Given the description of an element on the screen output the (x, y) to click on. 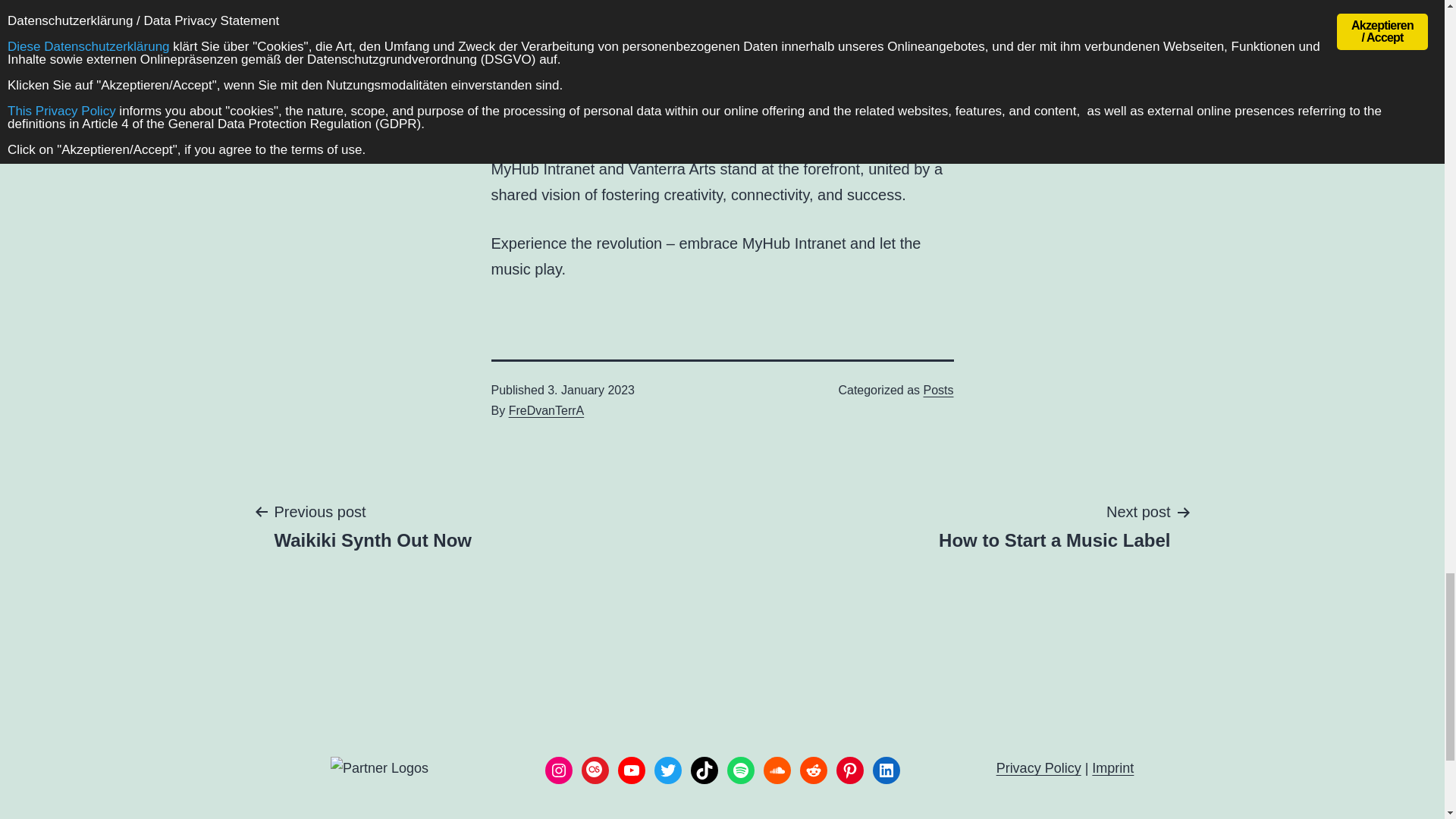
Spotify (740, 769)
Last.fm (594, 769)
Reddit (813, 769)
LinkedIn (885, 769)
Twitter (667, 769)
Posts (938, 390)
Imprint (1113, 767)
tailor-made pricing (710, 43)
FreDvanTerrA (546, 410)
Privacy Policy (1038, 767)
